Given the description of an element on the screen output the (x, y) to click on. 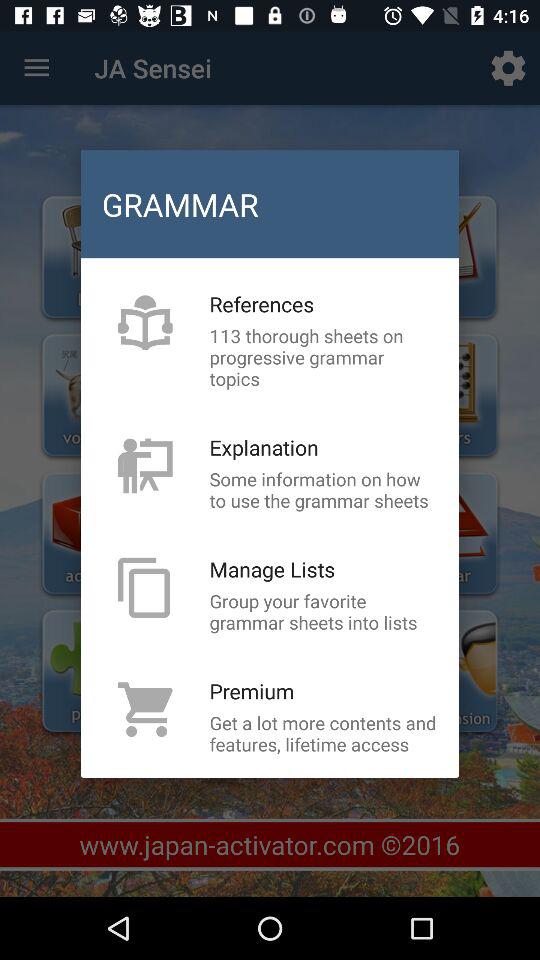
scroll until the premium item (251, 690)
